Given the description of an element on the screen output the (x, y) to click on. 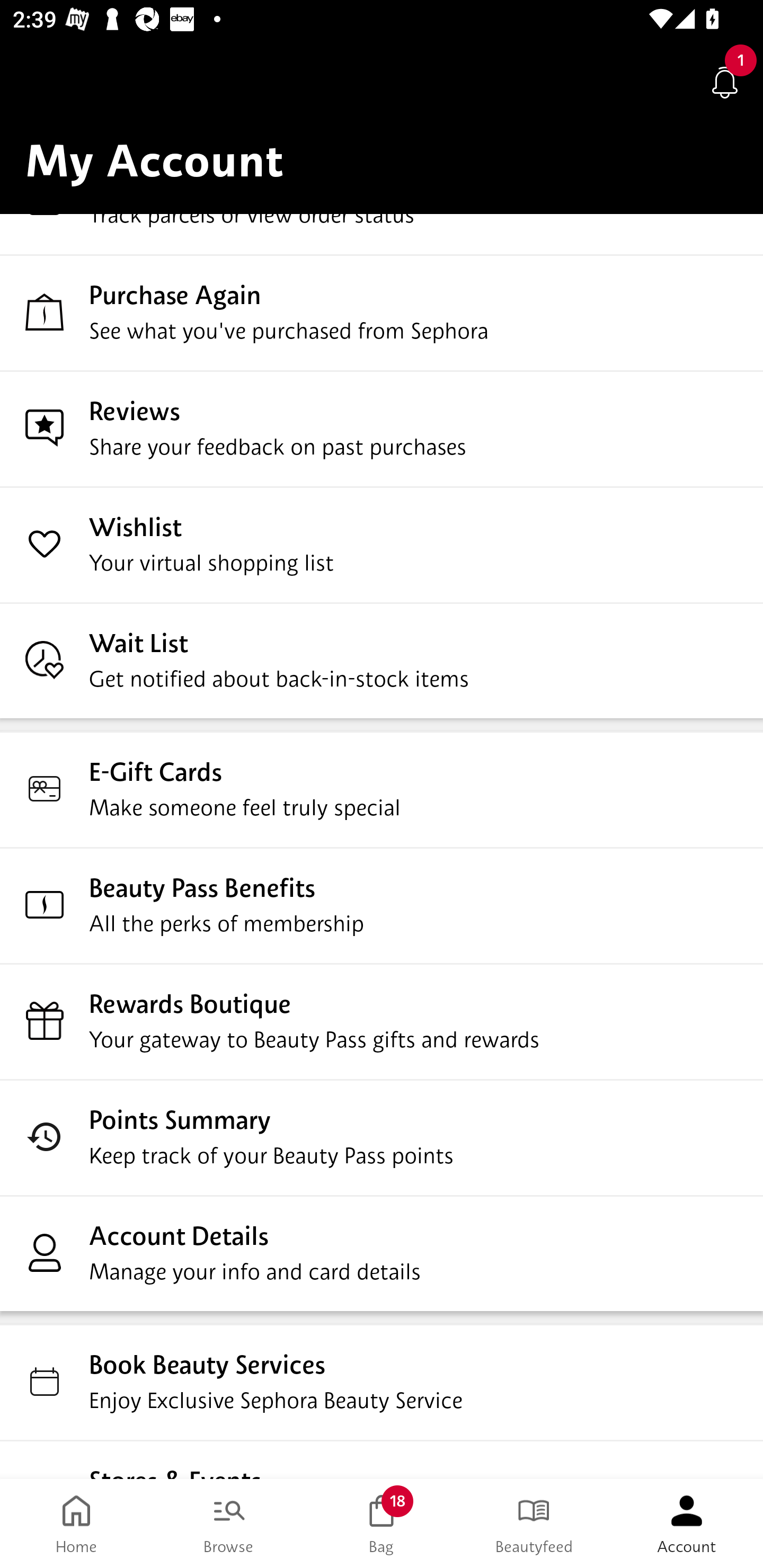
Notifications (724, 81)
Reviews Share your feedback on past purchases (381, 428)
Wishlist Your virtual shopping list (381, 544)
Wait List Get notified about back-in-stock items (381, 660)
E-Gift Cards Make someone feel truly special (381, 788)
Beauty Pass Benefits All the perks of membership (381, 904)
Account Details Manage your info and card details (381, 1252)
Home (76, 1523)
Browse (228, 1523)
Bag 18 Bag (381, 1523)
Beautyfeed (533, 1523)
